Given the description of an element on the screen output the (x, y) to click on. 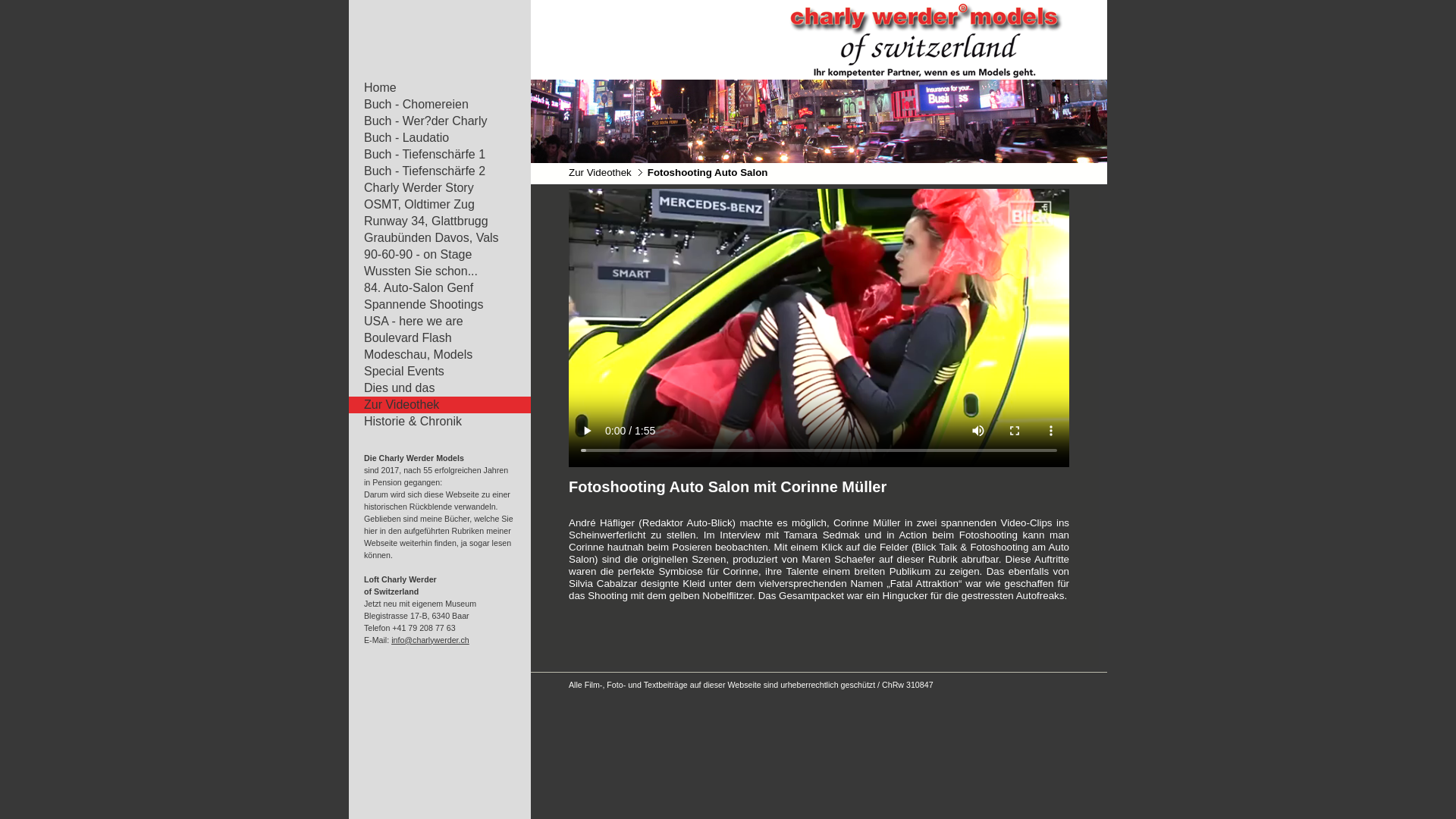
Spannende Shootings Element type: text (431, 304)
Buch - Laudatio Element type: text (431, 137)
84. Auto-Salon Genf Element type: text (431, 287)
Dies und das Element type: text (431, 387)
Zur Videothek Element type: text (599, 172)
Charly Werder Story Element type: text (431, 187)
OSMT, Oldtimer Zug Element type: text (431, 204)
Modeschau, Models Element type: text (431, 354)
USA - here we are Element type: text (431, 321)
Boulevard Flash Element type: text (431, 337)
Fotoshooting Auto Salon Element type: text (707, 172)
Buch - Chomereien Element type: text (431, 104)
Charly Werder News Element type: hover (818, 39)
Runway 34, Glattbrugg Element type: text (431, 221)
Zur Videothek Element type: text (431, 404)
Wussten Sie schon... Element type: text (431, 271)
Special Events Element type: text (431, 371)
info@charlywerder.ch Element type: text (430, 639)
90-60-90 - on Stage Element type: text (431, 254)
Home Element type: text (431, 87)
Buch - Wer?der Charly Element type: text (431, 120)
Historie & Chronik Element type: text (431, 421)
Charly Werder News Element type: hover (727, 121)
